Given the description of an element on the screen output the (x, y) to click on. 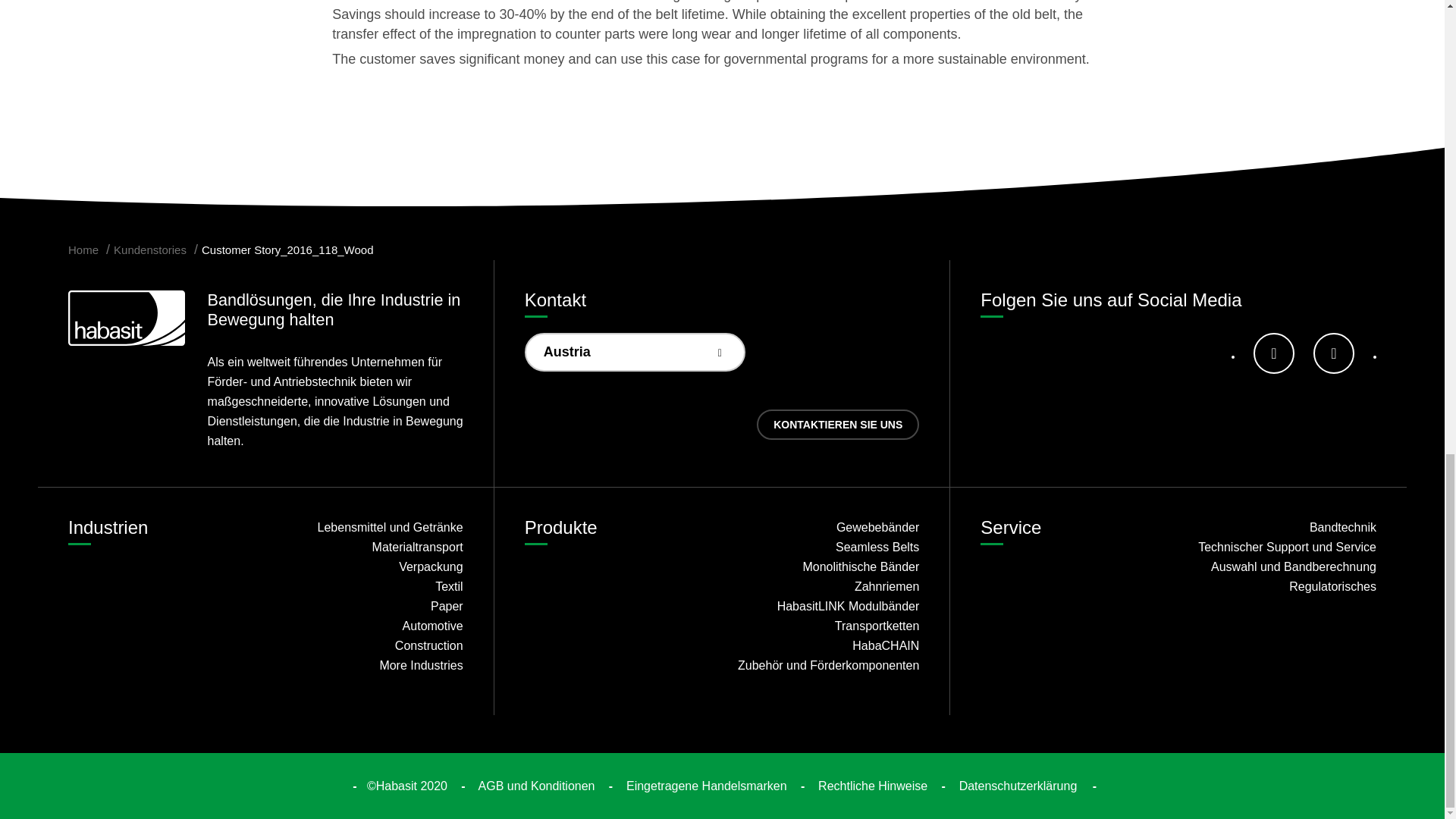
More Industries (369, 665)
Automotive (369, 626)
Materialtransport (369, 547)
Textil (369, 587)
Kundenstories (149, 249)
Zahnriemen (825, 587)
Transportketten (825, 626)
Construction (369, 646)
Paper (369, 606)
HabaCHAIN (825, 646)
Seamless Belts (825, 547)
Customer stories (149, 249)
Verpackung (369, 567)
AGB und Konditionen (537, 785)
